Given the description of an element on the screen output the (x, y) to click on. 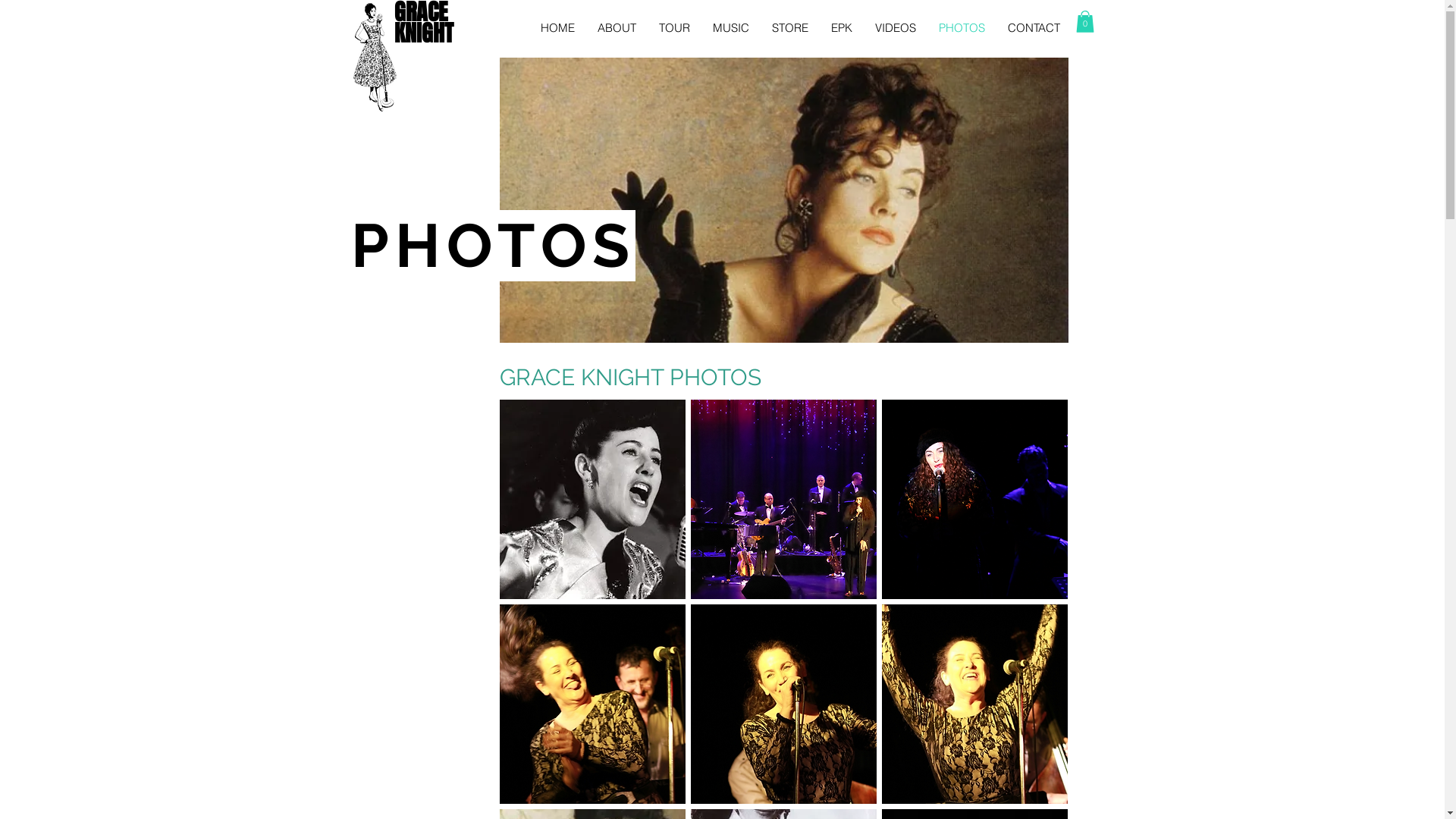
0 Element type: text (1084, 21)
PHOTOS Element type: text (960, 27)
MUSIC Element type: text (729, 27)
01-Stormy-Weather-photo-shoot.jpg Element type: hover (782, 199)
STORE Element type: text (789, 27)
CONTACT Element type: text (1033, 27)
EPK Element type: text (840, 27)
TOUR Element type: text (674, 27)
ABOUT Element type: text (615, 27)
HOME Element type: text (557, 27)
VIDEOS Element type: text (894, 27)
